Given the description of an element on the screen output the (x, y) to click on. 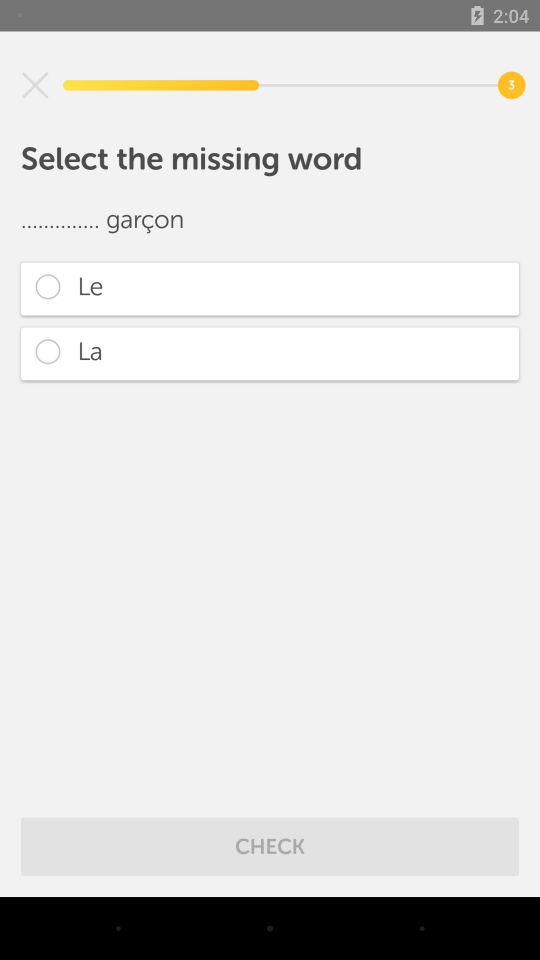
flip to la icon (270, 353)
